Given the description of an element on the screen output the (x, y) to click on. 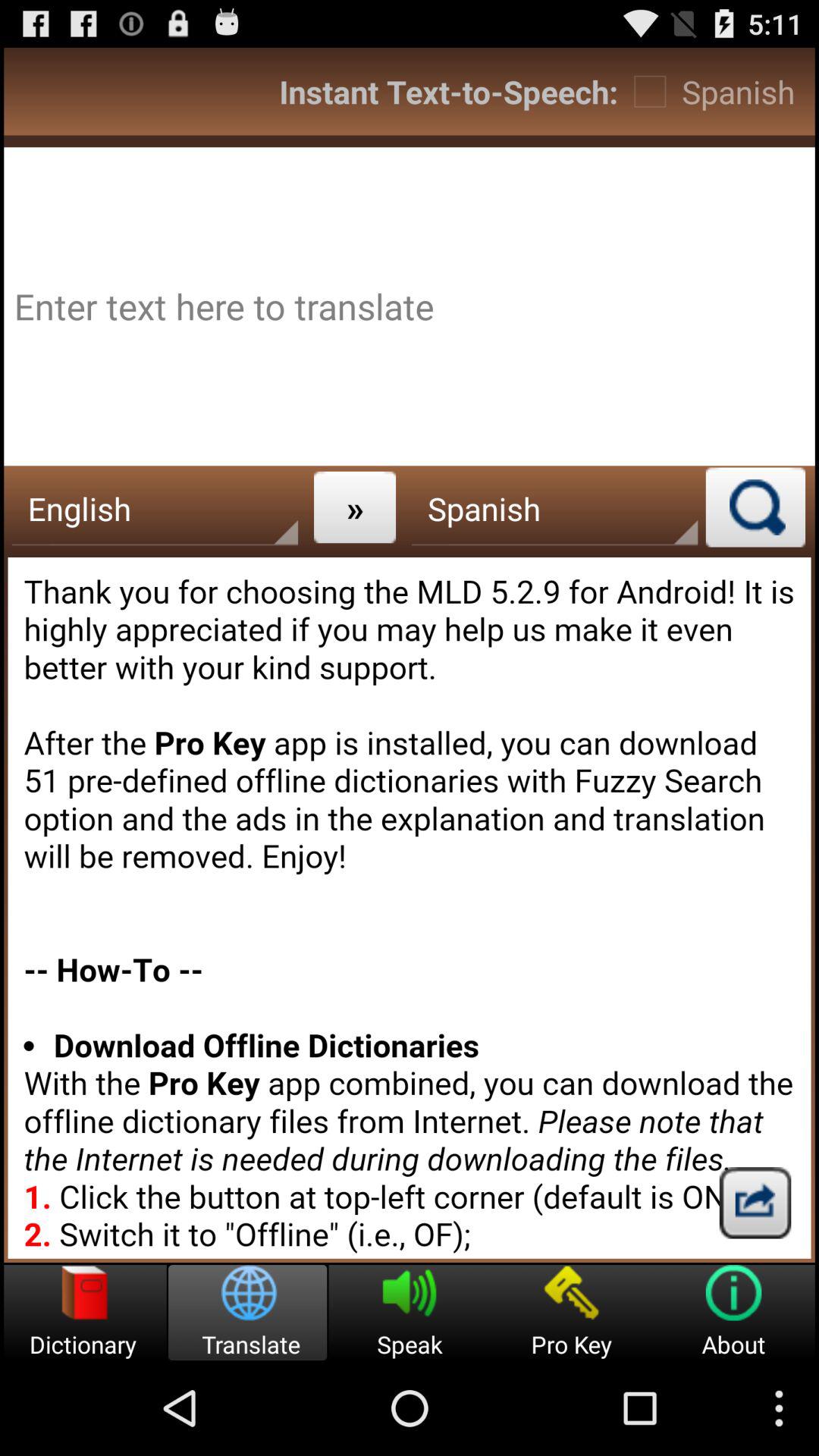
enter text to be translated (409, 306)
